Given the description of an element on the screen output the (x, y) to click on. 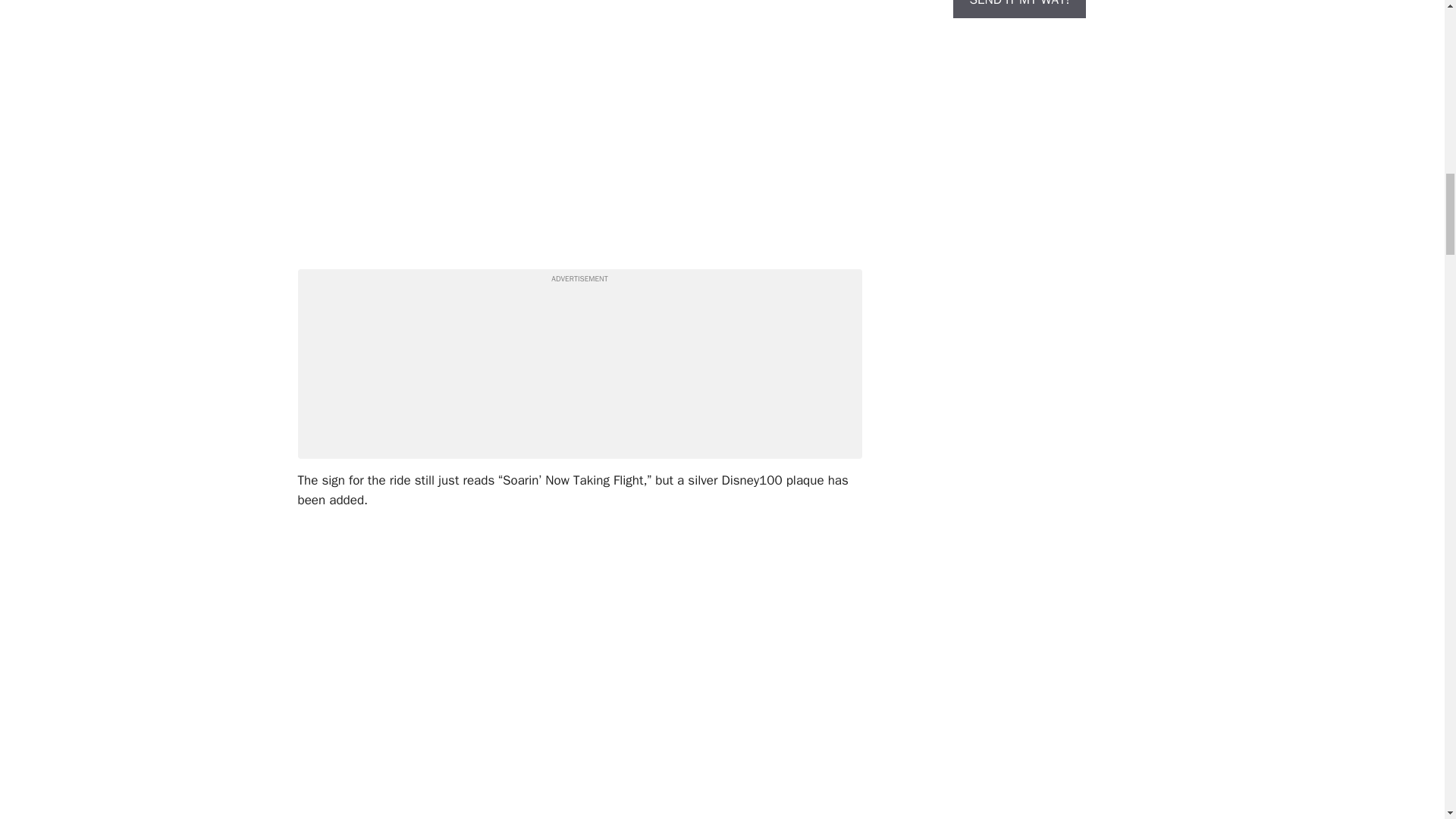
SEND IT MY WAY! (1018, 33)
